Given the description of an element on the screen output the (x, y) to click on. 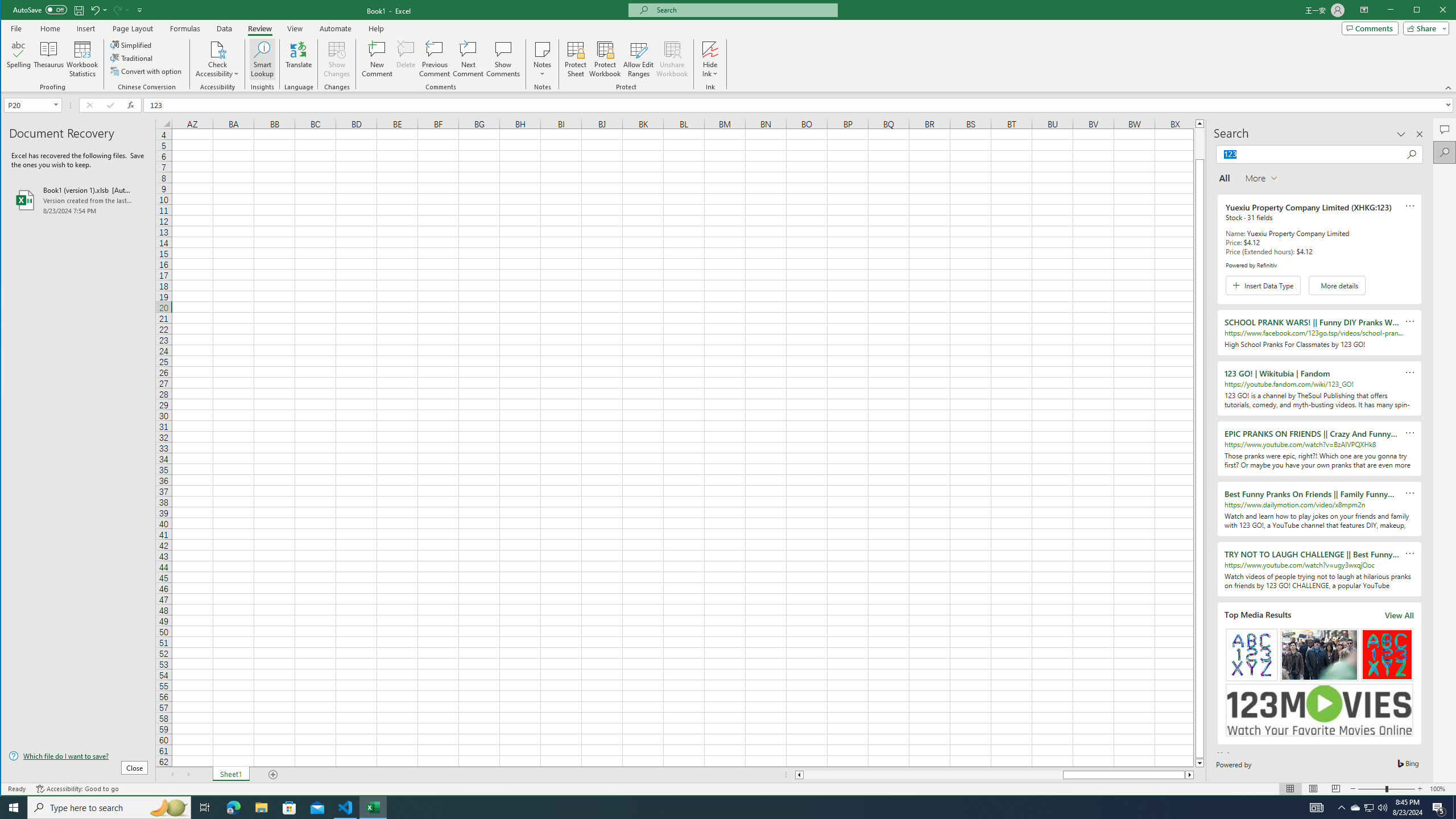
Action Center, 5 new notifications (1439, 807)
Protect Workbook... (604, 59)
Start (13, 807)
Microsoft Edge (233, 807)
Translate (298, 59)
Next Comment (467, 59)
Allow Edit Ranges (638, 59)
Simplified (132, 44)
